Given the description of an element on the screen output the (x, y) to click on. 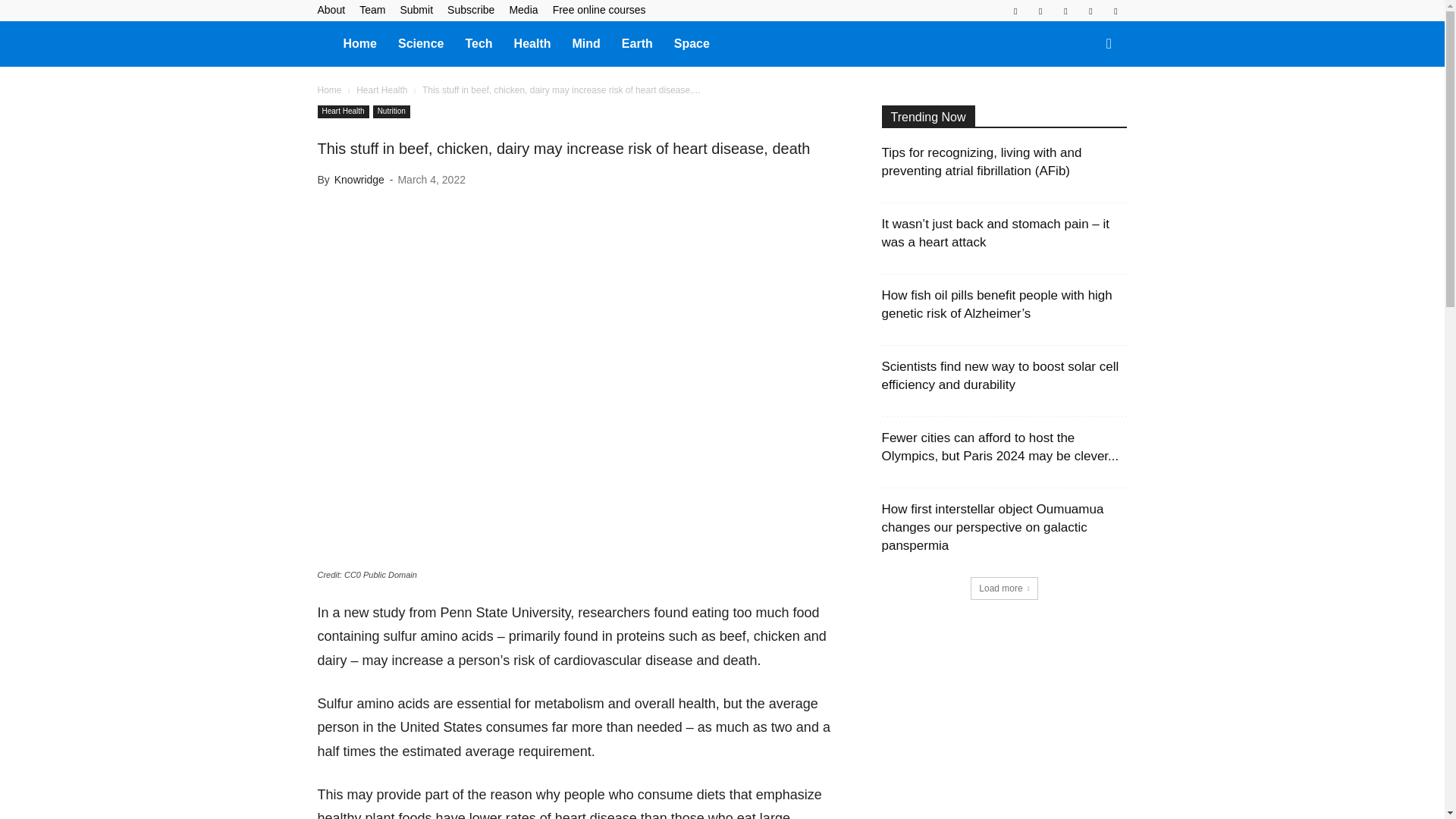
Linkedin (1040, 10)
Twitter (1090, 10)
Submit (415, 9)
Website (1114, 10)
Team (372, 9)
RSS (1065, 10)
Free online courses (599, 9)
About (331, 9)
View all posts in Heart Health (381, 90)
Media (522, 9)
Subscribe (470, 9)
Knowridge Science Report (324, 42)
Facebook (1015, 10)
